Given the description of an element on the screen output the (x, y) to click on. 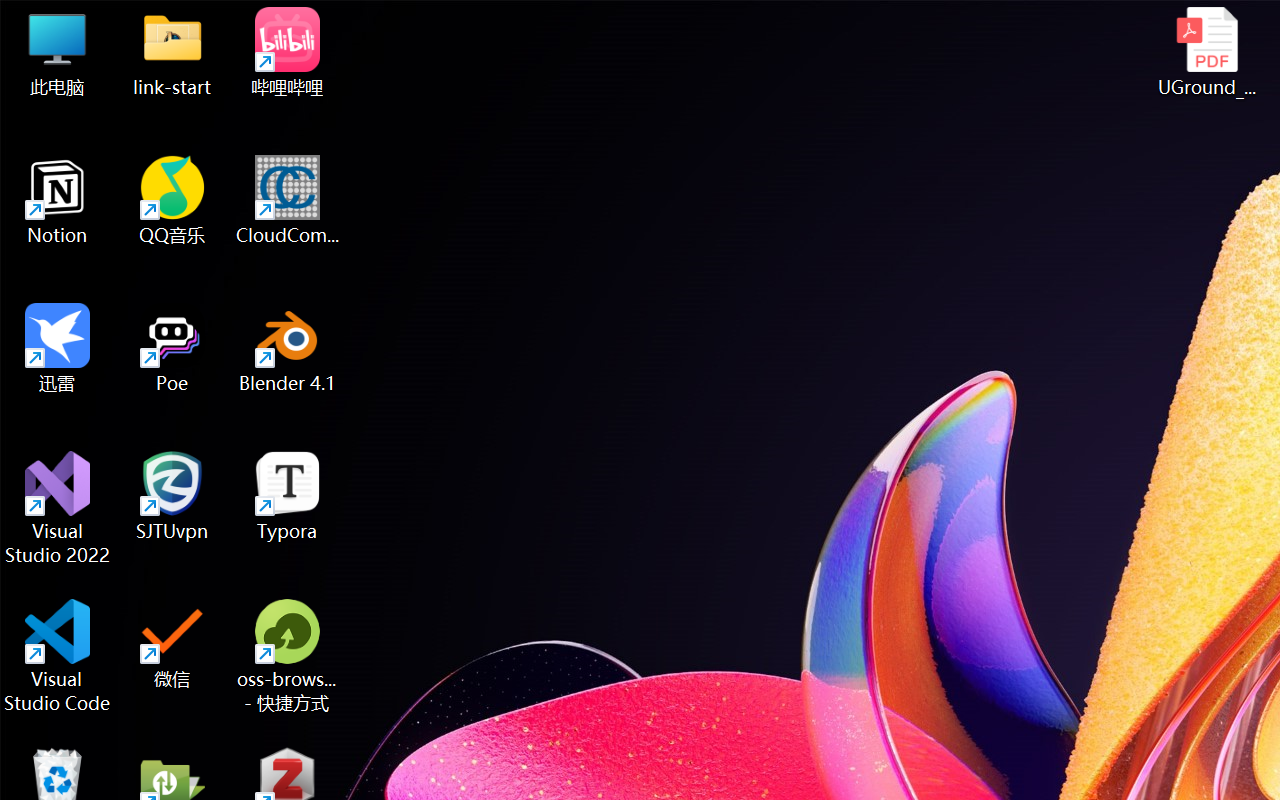
Google Workspace Admin Community (76, 22)
PDD Holdings Inc - ADR (PDD) Price & News - Google Finance (556, 22)
Country version: (942, 653)
Privacy Checkup (876, 22)
Content in Google services (152, 399)
